Given the description of an element on the screen output the (x, y) to click on. 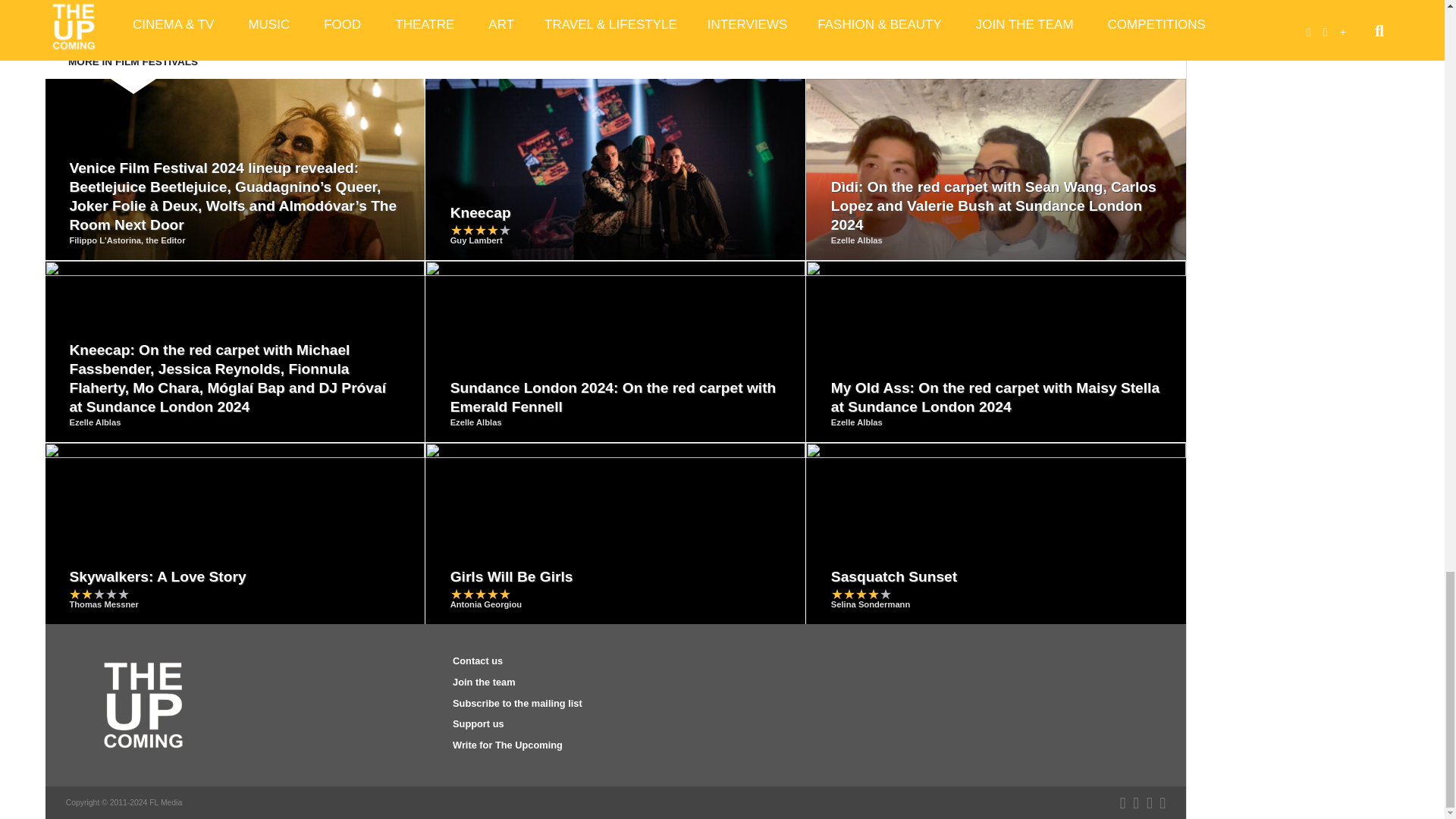
4 out of 5 stars (480, 229)
